Given the description of an element on the screen output the (x, y) to click on. 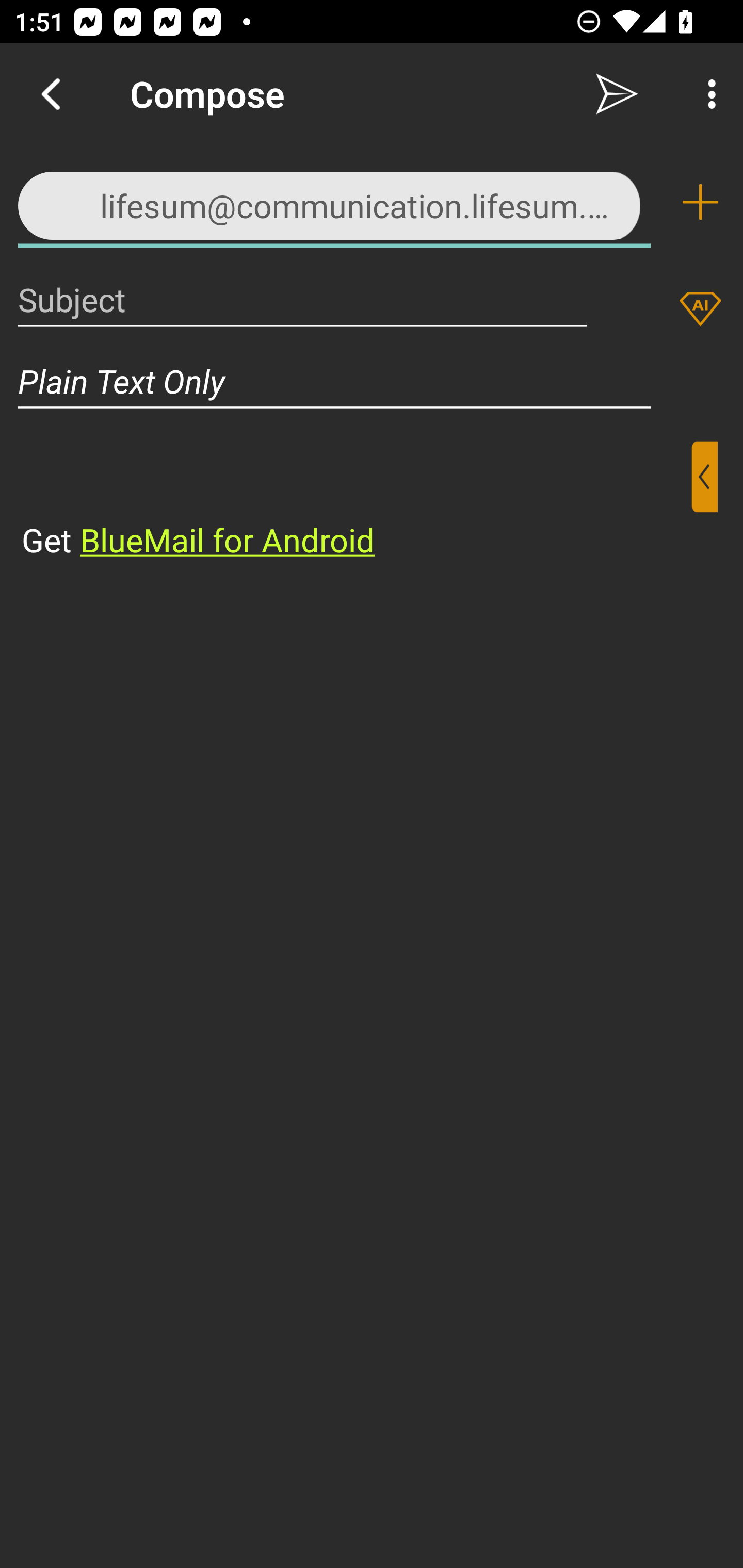
Navigate up (50, 93)
Send (616, 93)
More Options (706, 93)
<lifesum@communication.lifesum.com>,  (334, 201)
Add recipient (To) (699, 201)
Subject (302, 299)
Plain Text Only (334, 380)


⁣Get BlueMail for Android ​ (355, 501)
